Given the description of an element on the screen output the (x, y) to click on. 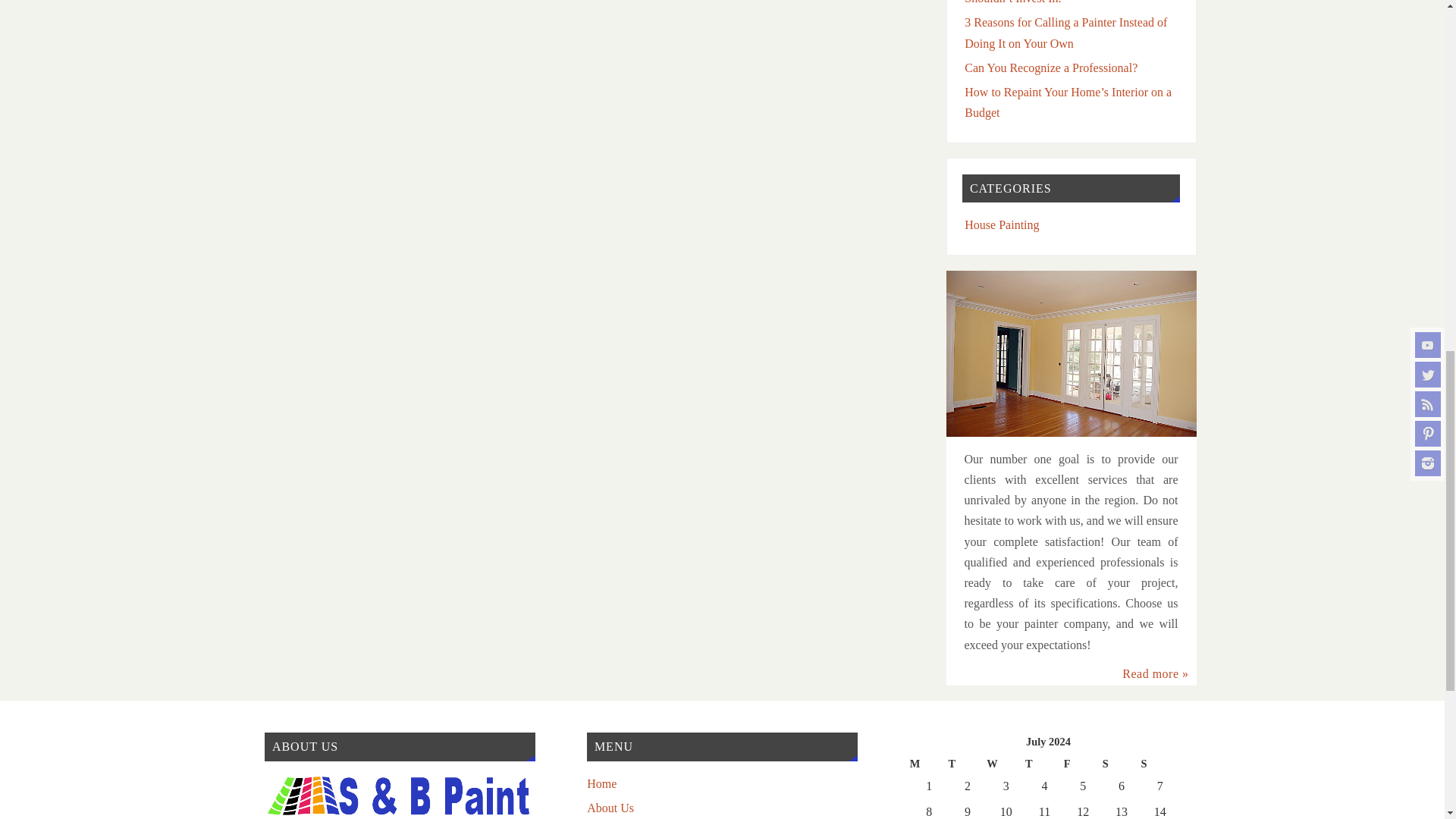
House Painting (1001, 224)
Can You Recognize a Professional? (1050, 67)
A Flawless Painting Service for You (1071, 352)
